Given the description of an element on the screen output the (x, y) to click on. 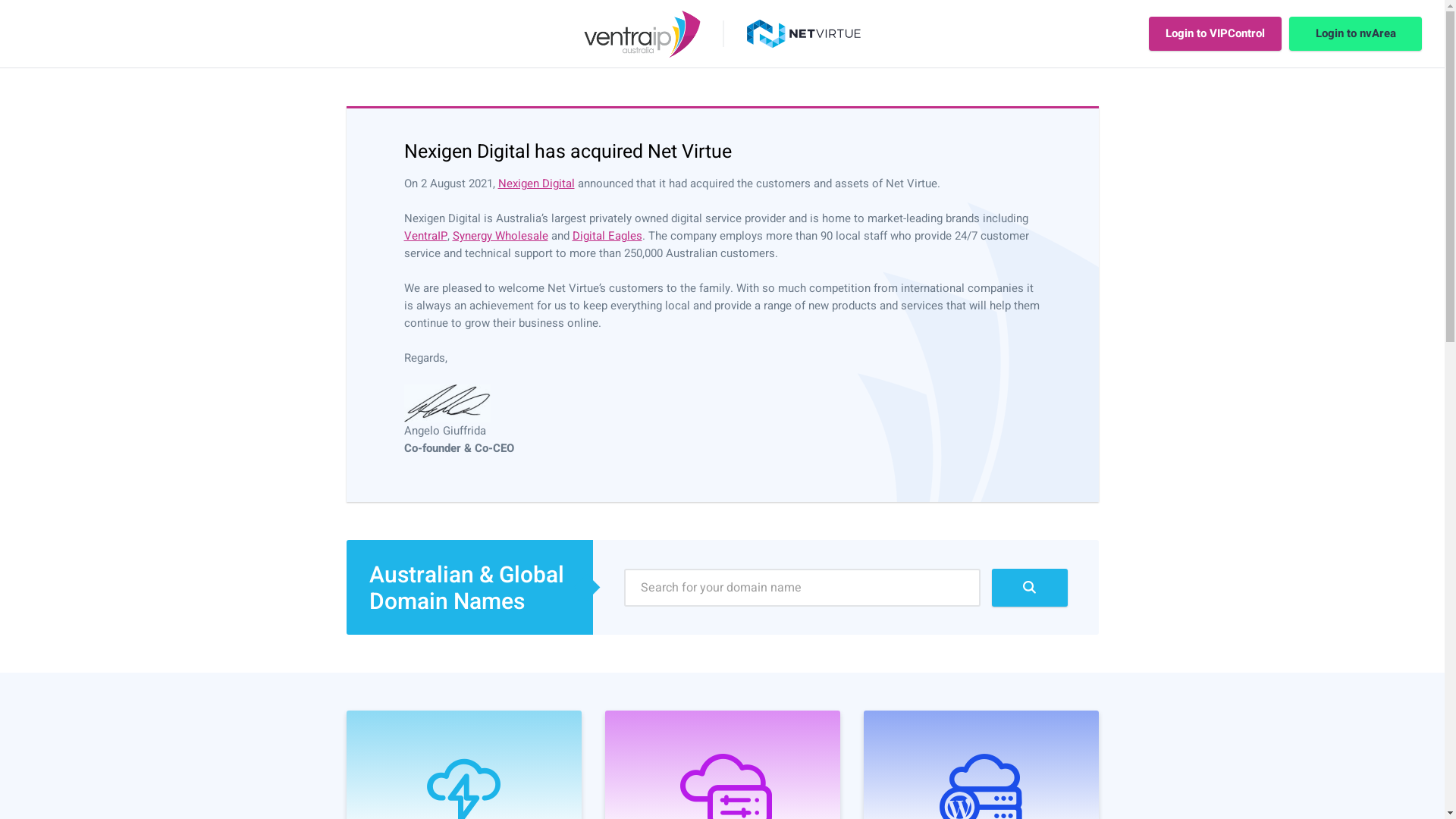
VentraIP Element type: text (424, 235)
Nexigen Digital Element type: text (535, 183)
Digital Eagles Element type: text (606, 235)
Login to nvArea Element type: text (1355, 33)
Synergy Wholesale Element type: text (499, 235)
Login to VIPControl Element type: text (1214, 33)
